Given the description of an element on the screen output the (x, y) to click on. 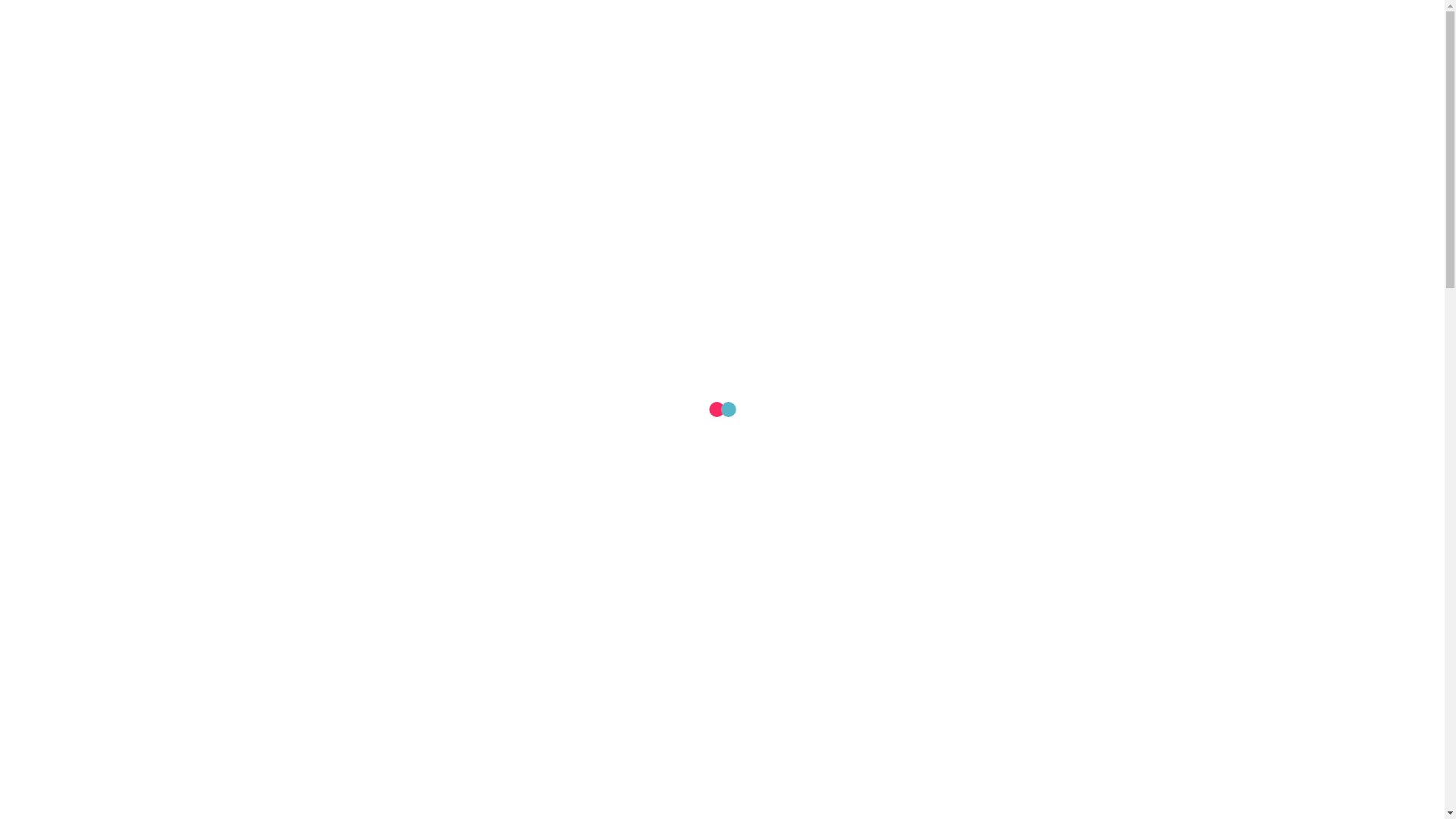
Individual therapy Element type: text (431, 489)
EN Element type: text (1157, 18)
NL Element type: text (1100, 18)
APPROACH Element type: text (923, 76)
COUPLES THERAPY Element type: text (749, 76)
0496 51 48 90 Element type: text (332, 19)
WHO AM I? Element type: text (846, 76)
FR Element type: text (1129, 18)
Contact Me Element type: text (1113, 76)
INSPIRATION Element type: text (1005, 76)
INDIVIDUAL THERAPY Element type: text (625, 76)
Couples therapy Element type: text (879, 489)
info@christinepannier.be Element type: text (512, 19)
Allow cookies Element type: text (472, 795)
